Given the description of an element on the screen output the (x, y) to click on. 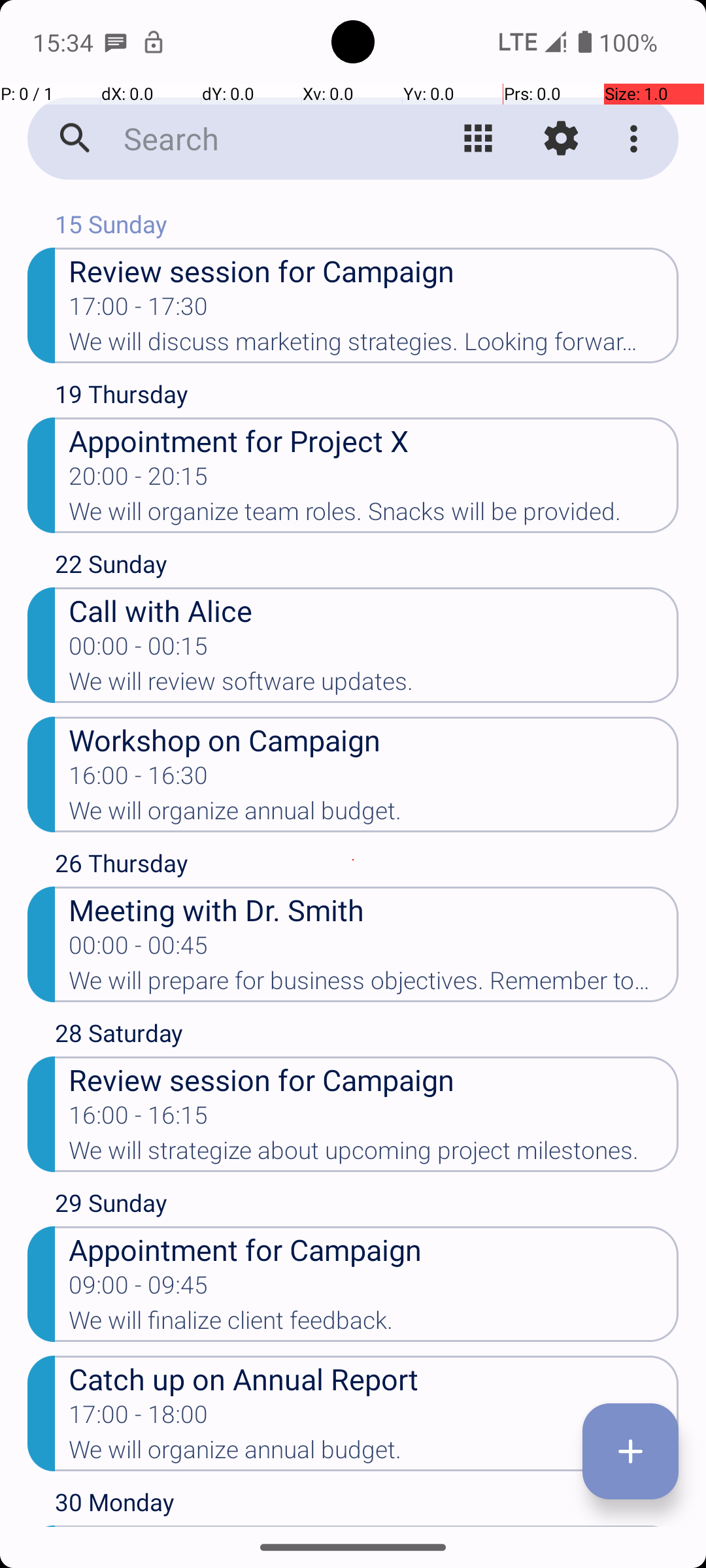
OCTOBER Element type: android.widget.TextView (353, 200)
15 Sunday Element type: android.widget.TextView (366, 227)
19 Thursday Element type: android.widget.TextView (366, 396)
22 Sunday Element type: android.widget.TextView (366, 566)
26 Thursday Element type: android.widget.TextView (366, 866)
28 Saturday Element type: android.widget.TextView (366, 1035)
29 Sunday Element type: android.widget.TextView (366, 1205)
30 Monday Element type: android.widget.TextView (366, 1505)
17:00 - 17:30 Element type: android.widget.TextView (137, 309)
We will discuss marketing strategies. Looking forward to productive discussions. Element type: android.widget.TextView (373, 345)
Appointment for Project X Element type: android.widget.TextView (373, 439)
20:00 - 20:15 Element type: android.widget.TextView (137, 479)
We will organize team roles. Snacks will be provided. Element type: android.widget.TextView (373, 515)
Call with Alice Element type: android.widget.TextView (373, 609)
00:00 - 00:15 Element type: android.widget.TextView (137, 649)
We will review software updates. Element type: android.widget.TextView (373, 684)
Workshop on Campaign Element type: android.widget.TextView (373, 738)
16:00 - 16:30 Element type: android.widget.TextView (137, 779)
We will organize annual budget. Element type: android.widget.TextView (373, 814)
Meeting with Dr. Smith Element type: android.widget.TextView (373, 908)
00:00 - 00:45 Element type: android.widget.TextView (137, 948)
We will prepare for business objectives. Remember to confirm attendance. Element type: android.widget.TextView (373, 984)
16:00 - 16:15 Element type: android.widget.TextView (137, 1118)
We will strategize about upcoming project milestones. Element type: android.widget.TextView (373, 1154)
Appointment for Campaign Element type: android.widget.TextView (373, 1248)
09:00 - 09:45 Element type: android.widget.TextView (137, 1288)
We will finalize client feedback. Element type: android.widget.TextView (373, 1323)
17:00 - 18:00 Element type: android.widget.TextView (137, 1418)
Meeting with the Team Element type: android.widget.TextView (373, 1558)
